Given the description of an element on the screen output the (x, y) to click on. 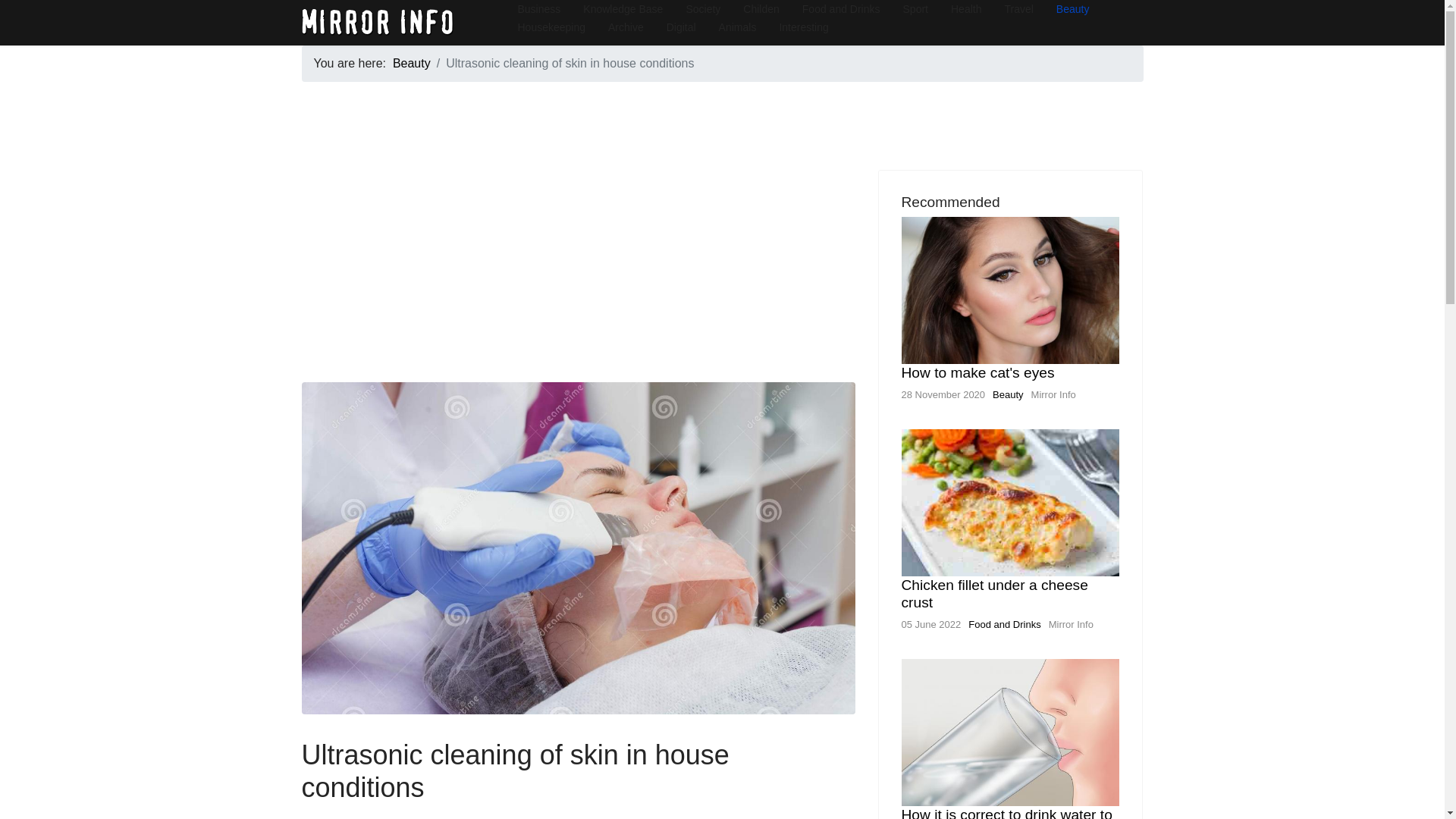
Category: Beauty (316, 818)
How it is correct to drink water to lose weight? (1006, 812)
How to make cat's eyes (977, 372)
Chicken fillet under a cheese crust (994, 593)
Food and Drinks (1004, 624)
Beauty (411, 62)
Beauty (1007, 394)
Advertisement (578, 275)
